Given the description of an element on the screen output the (x, y) to click on. 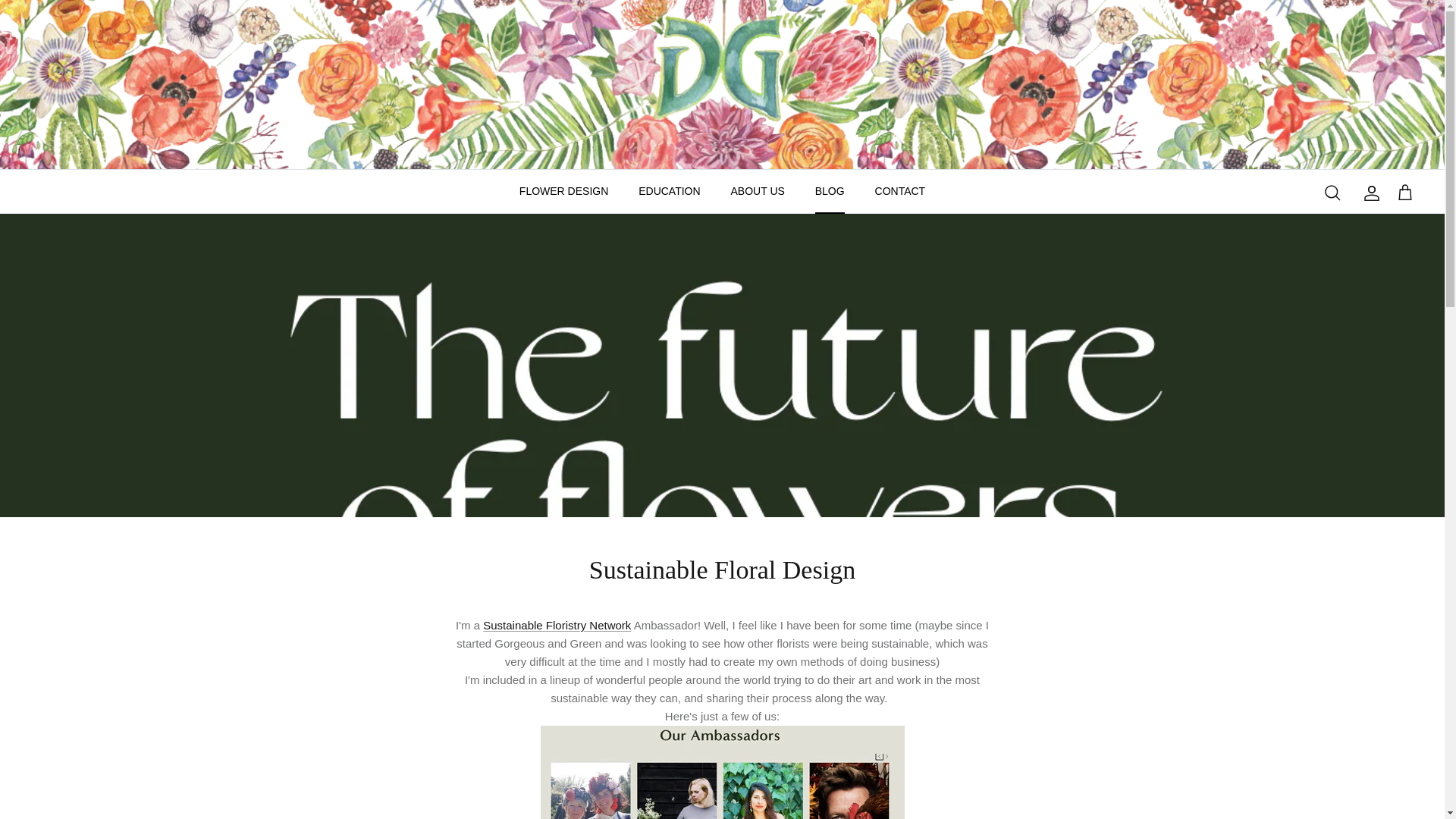
FLOWER DESIGN (563, 190)
BLOG (830, 190)
Sustainable Floristry  (556, 625)
Buscar (1331, 192)
Carrito (1404, 193)
EDUCATION (668, 190)
CONTACT (900, 190)
ABOUT US (757, 190)
Cuenta (1368, 193)
